Given the description of an element on the screen output the (x, y) to click on. 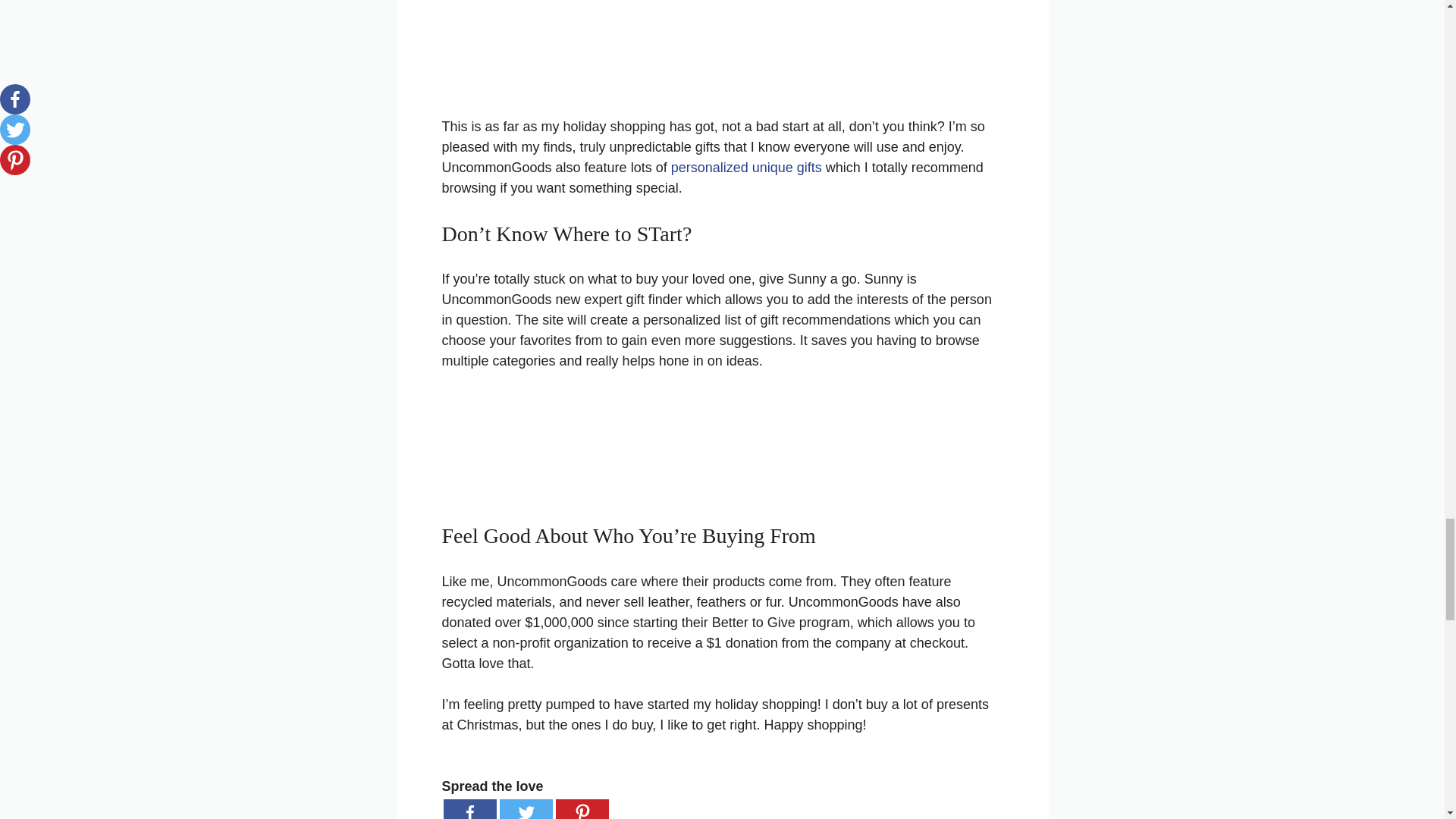
personalized unique gifts (746, 167)
Twitter (525, 809)
Pinterest (581, 809)
Facebook (469, 809)
